Given the description of an element on the screen output the (x, y) to click on. 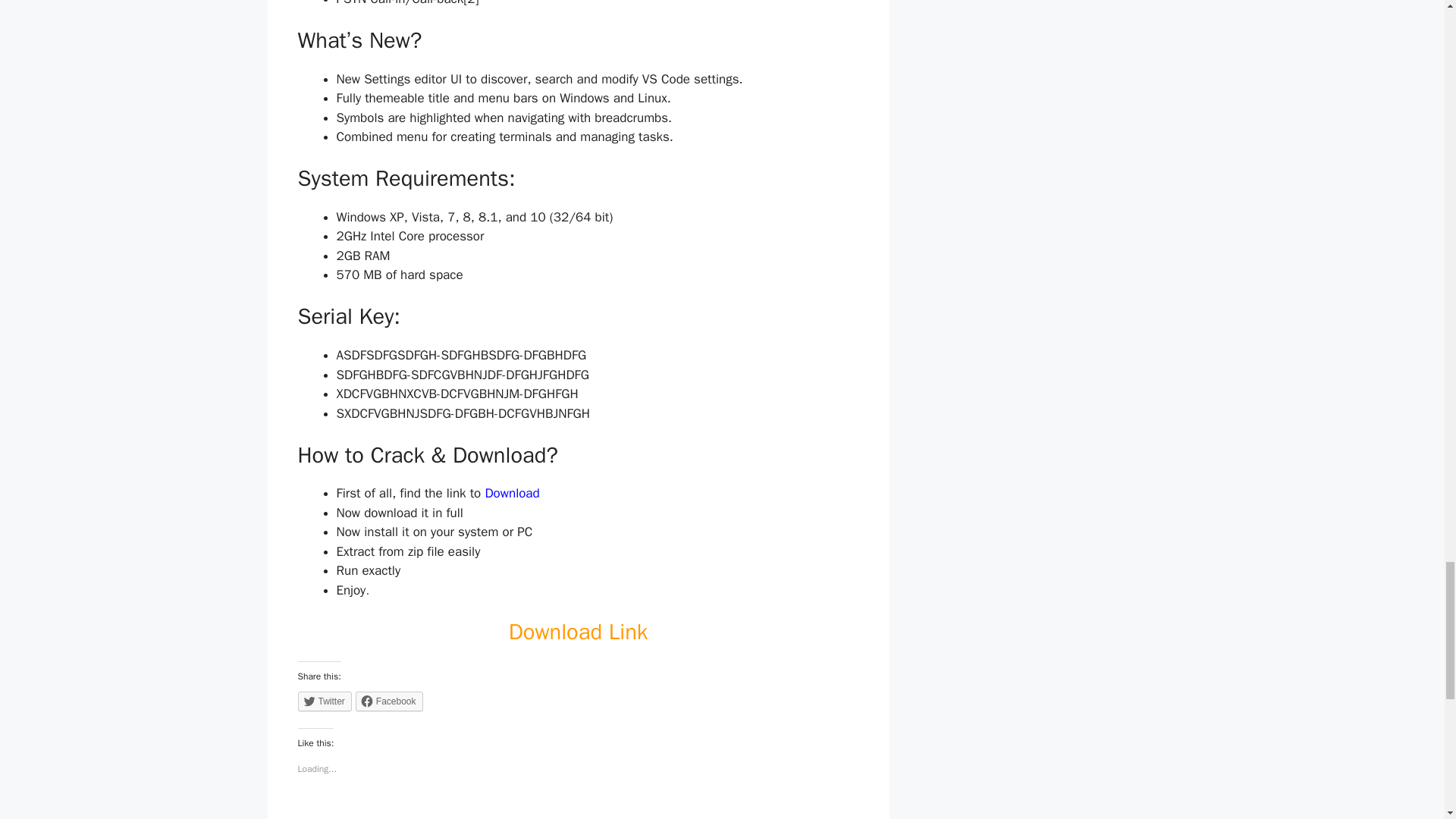
Download Link (577, 632)
Download (511, 493)
Click to share on Facebook (389, 701)
Facebook (389, 701)
Twitter (323, 701)
Click to share on Twitter (323, 701)
